Given the description of an element on the screen output the (x, y) to click on. 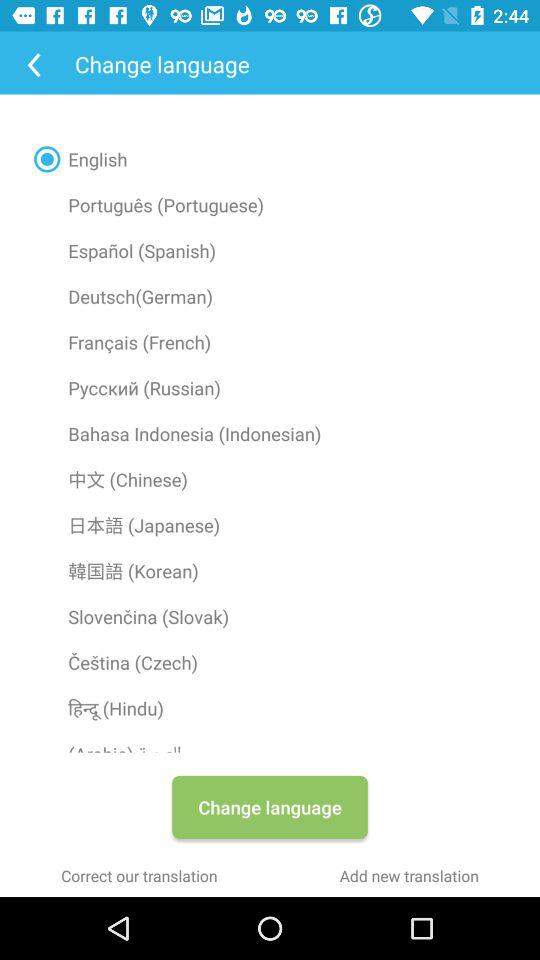
open bahasa indonesia (indonesian) item (269, 433)
